Given the description of an element on the screen output the (x, y) to click on. 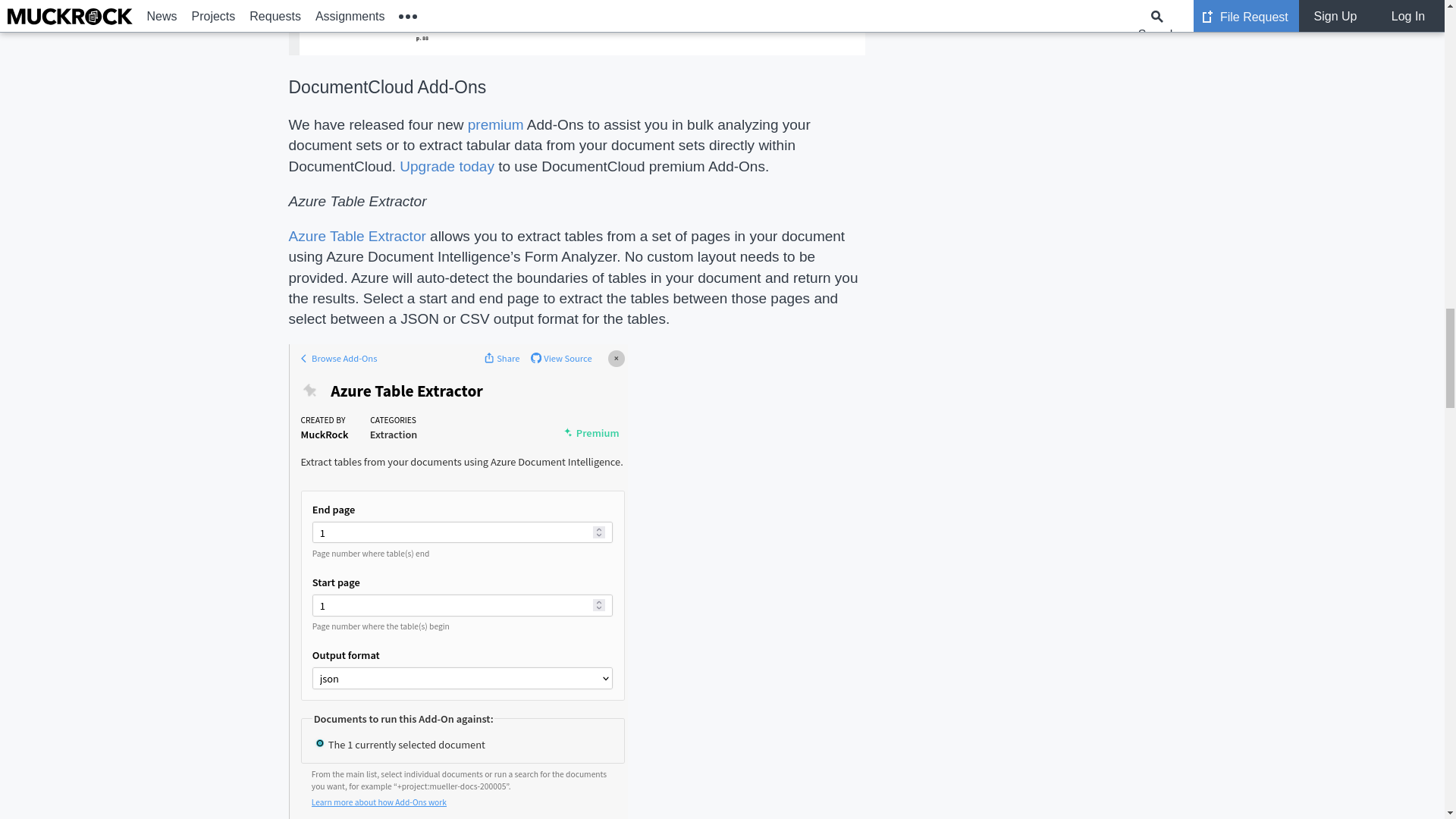
Upgrade today (446, 166)
Azure Table Extractor (356, 236)
premium (495, 124)
